Given the description of an element on the screen output the (x, y) to click on. 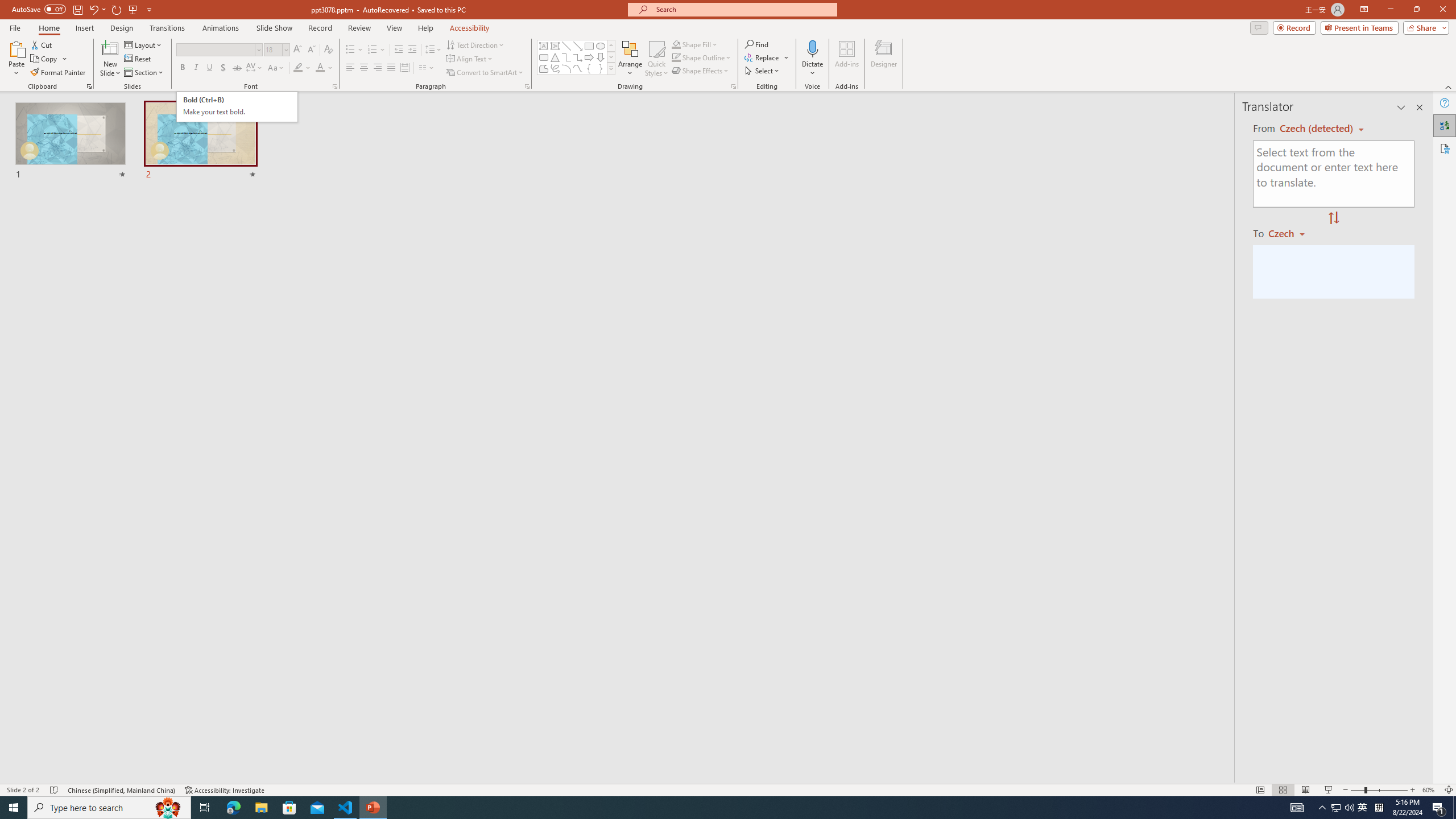
Rectangle: Rounded Corners (543, 57)
Shape Outline Green, Accent 1 (675, 56)
AutomationID: ShapesInsertGallery (576, 57)
Align Right (377, 67)
Swap "from" and "to" languages. (1333, 218)
Center (363, 67)
Paragraph... (526, 85)
Find... (756, 44)
Section (144, 72)
